Given the description of an element on the screen output the (x, y) to click on. 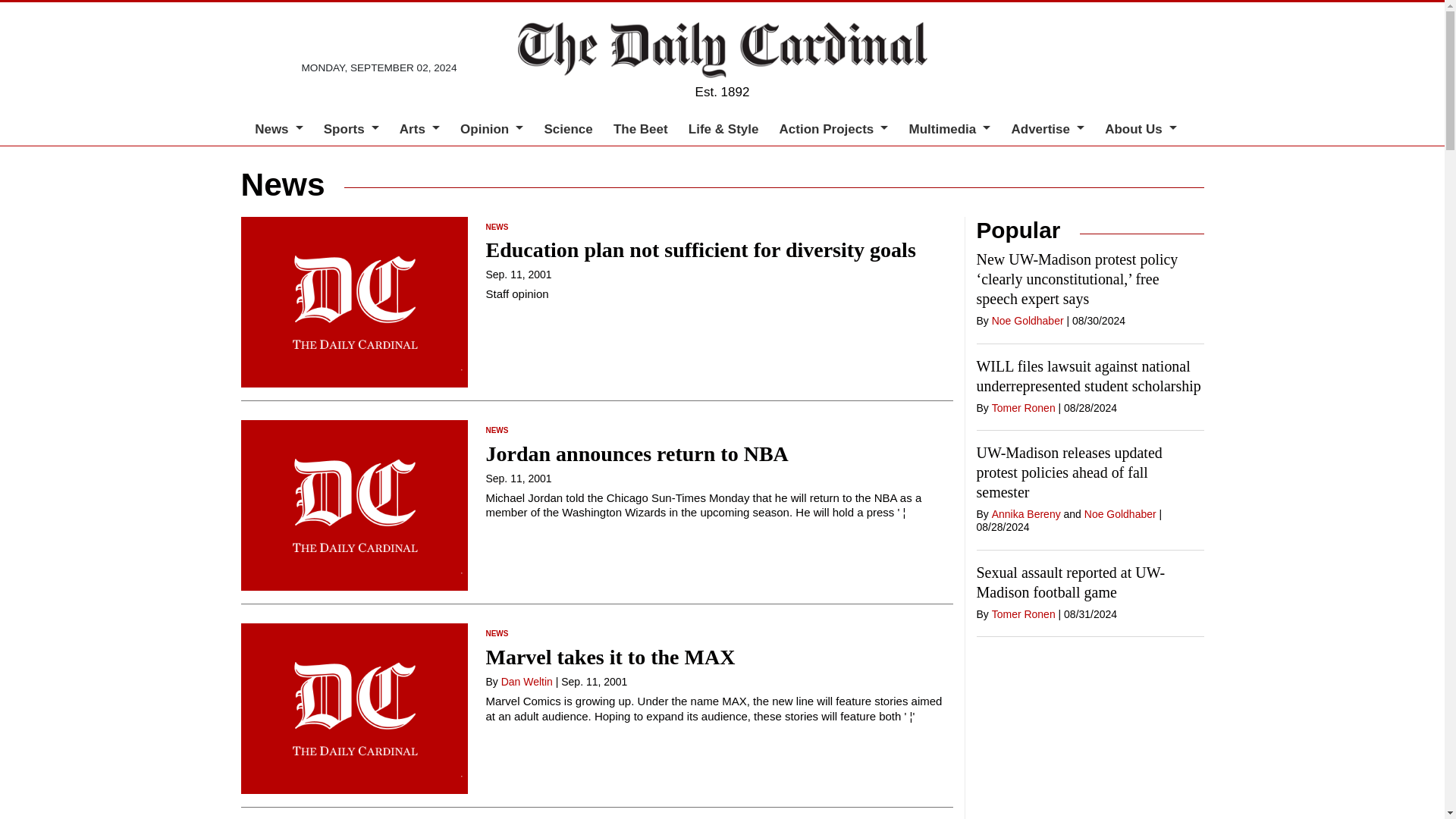
Marvel takes it to the MAX (609, 657)
The Beet (640, 129)
Education plan not sufficient for diversity goals (699, 249)
Sports (351, 129)
Arts (419, 129)
News (278, 129)
Science (567, 129)
Jordan announces return to NBA (635, 453)
